Given the description of an element on the screen output the (x, y) to click on. 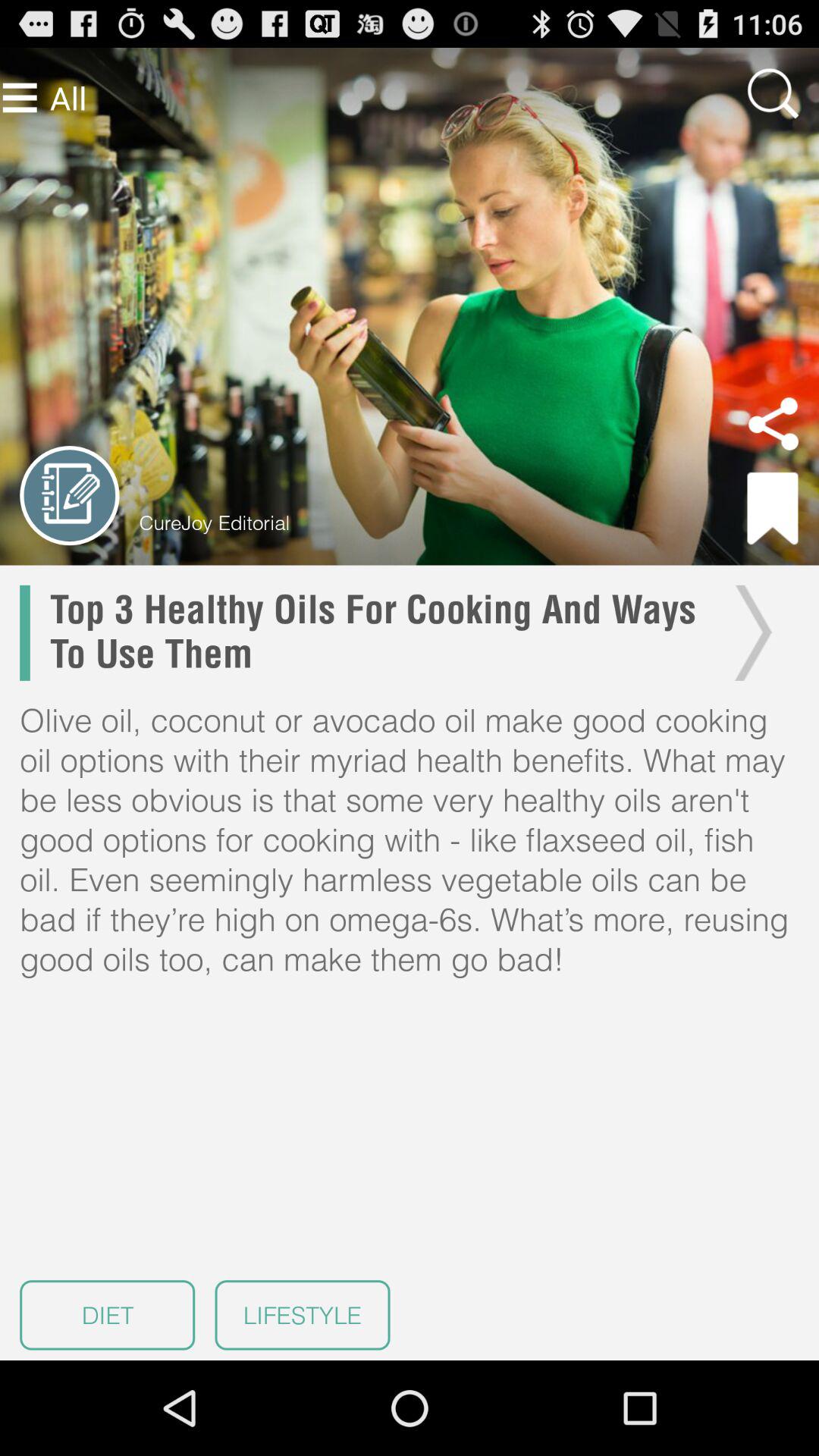
choose the item next to top 3 healthy item (749, 632)
